Given the description of an element on the screen output the (x, y) to click on. 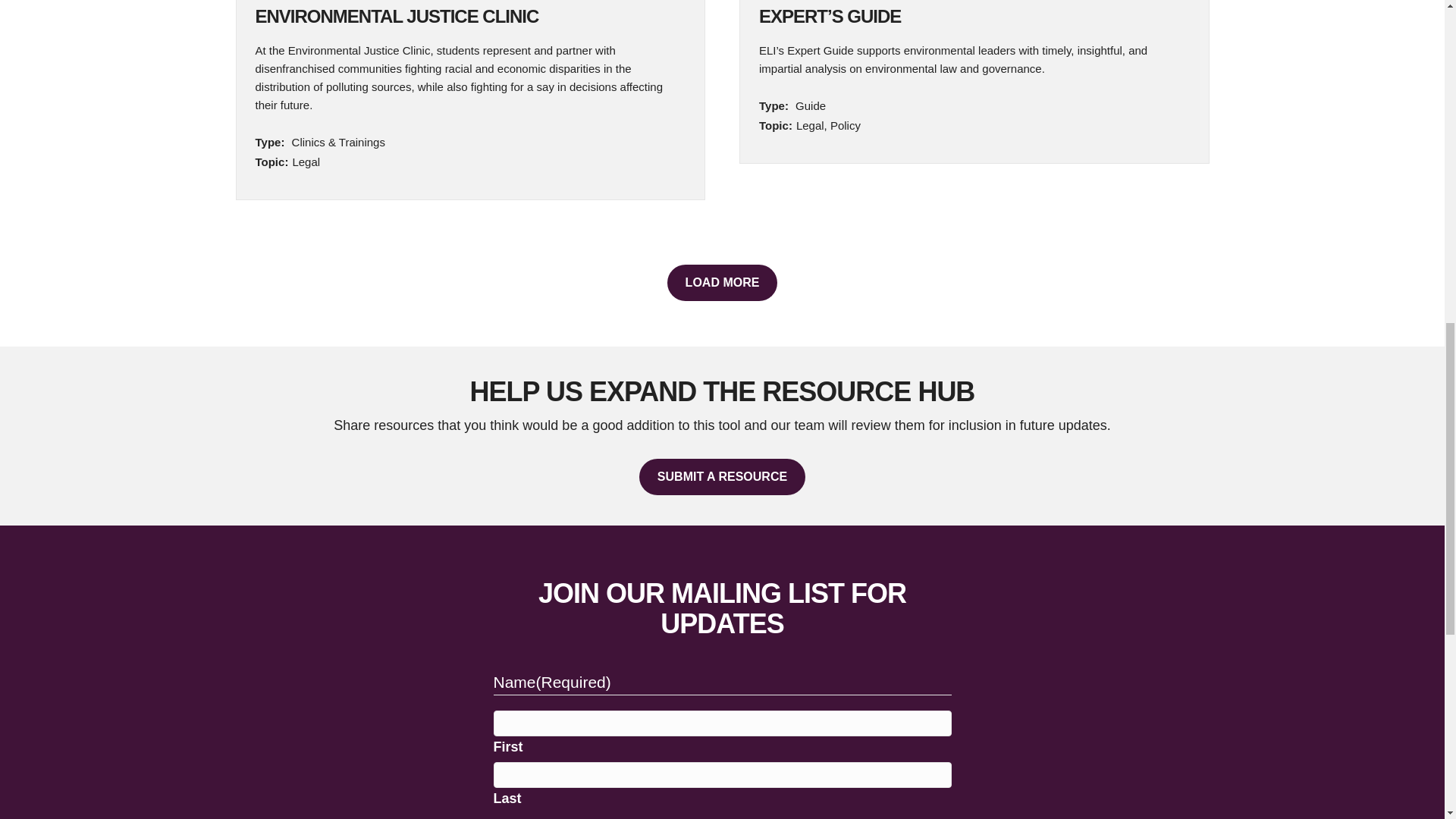
Environmental Justice Clinic (396, 15)
